Given the description of an element on the screen output the (x, y) to click on. 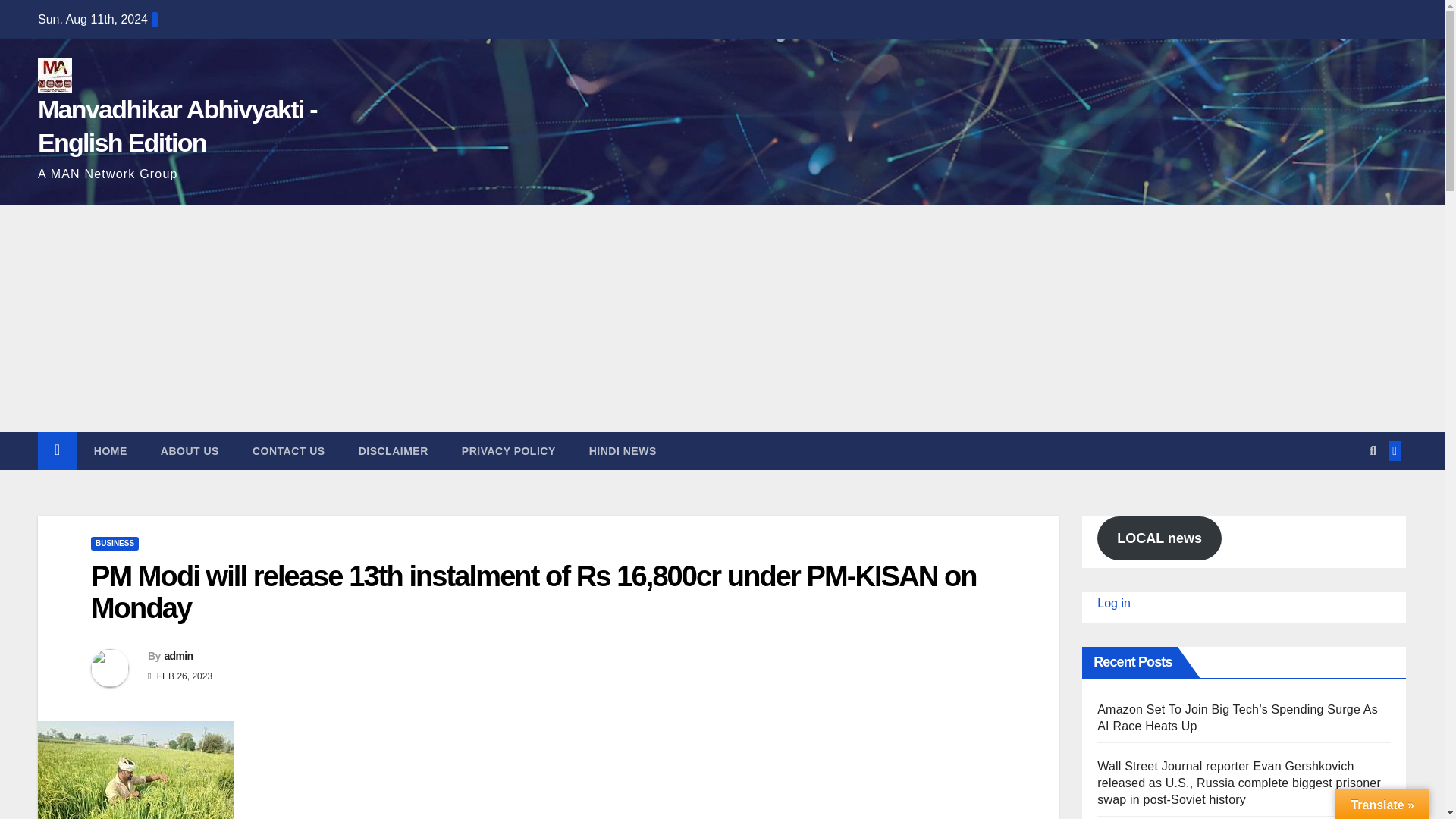
CONTACT US (288, 451)
PRIVACY POLICY (508, 451)
HINDI NEWS (622, 451)
ABOUT US (189, 451)
DISCLAIMER (393, 451)
Disclaimer (393, 451)
Contact us (288, 451)
